Given the description of an element on the screen output the (x, y) to click on. 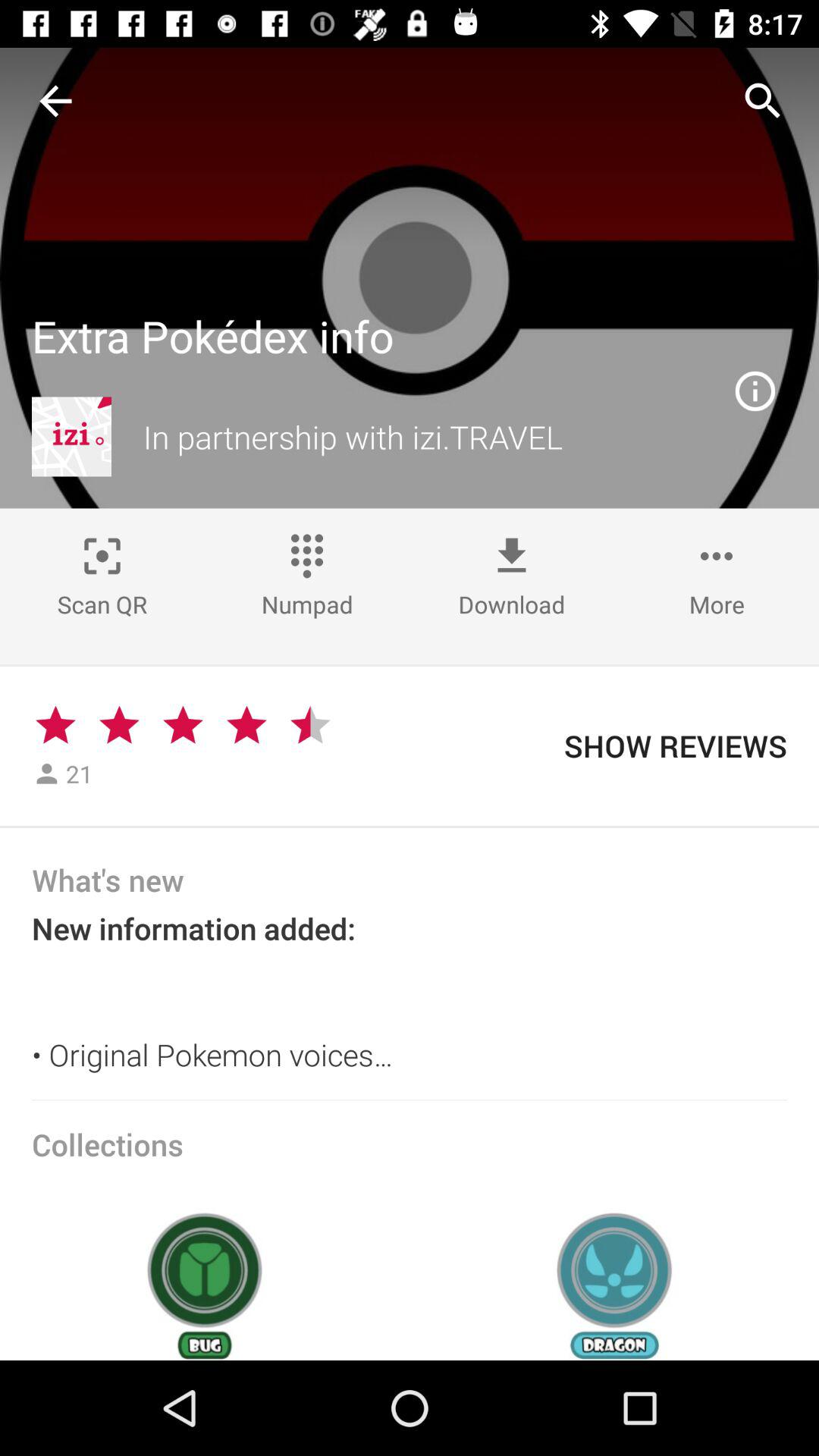
tap the item above the collections icon (409, 1099)
